Given the description of an element on the screen output the (x, y) to click on. 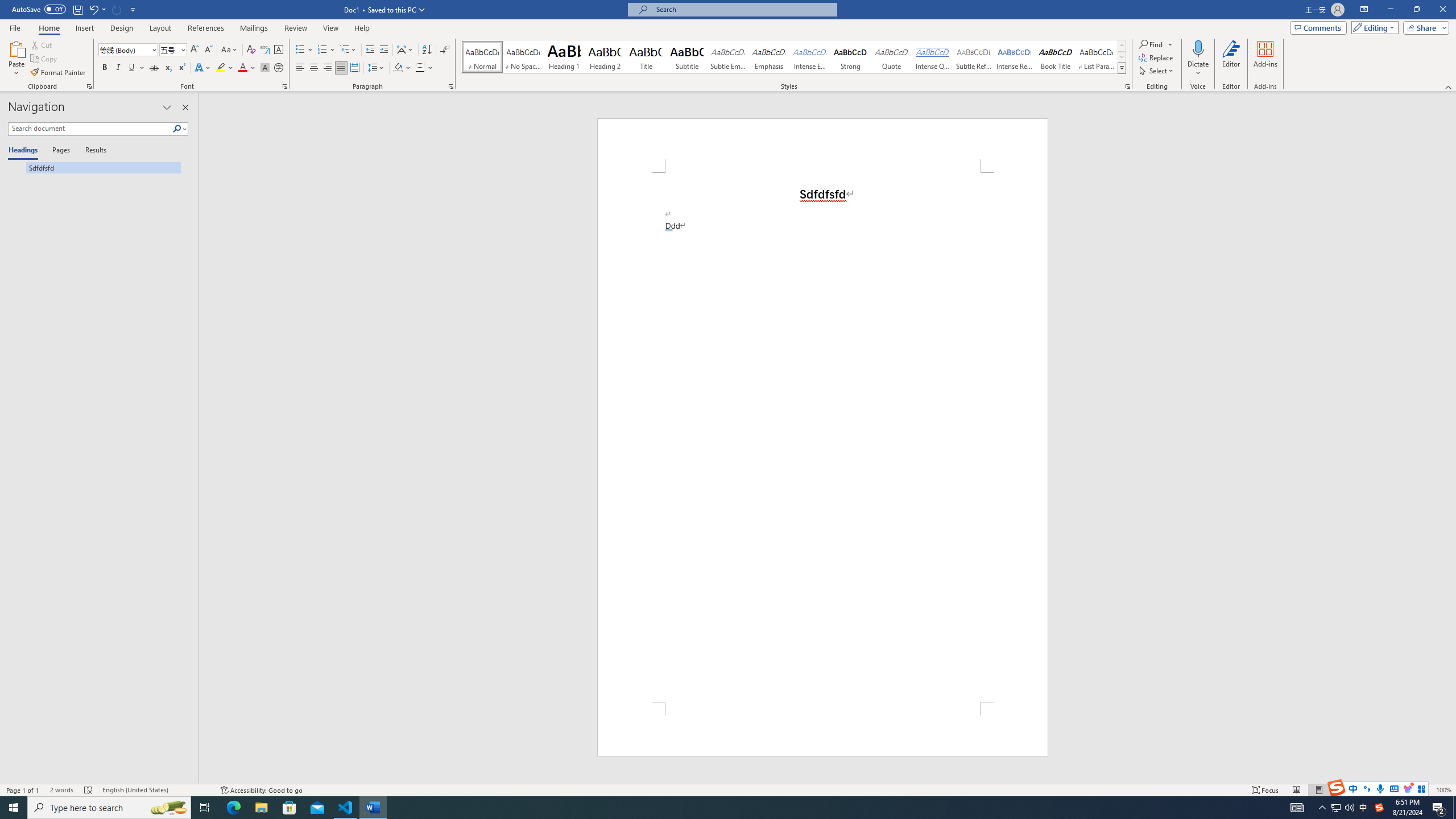
Zoom In (1426, 790)
Class: NetUIImage (1121, 68)
Bullets (304, 49)
Shrink Font (208, 49)
Superscript (180, 67)
Numbering (326, 49)
System (6, 6)
Decrease Indent (370, 49)
Shading (402, 67)
Select (1157, 69)
Row Down (1121, 56)
Share (1423, 27)
Bullets (300, 49)
